Given the description of an element on the screen output the (x, y) to click on. 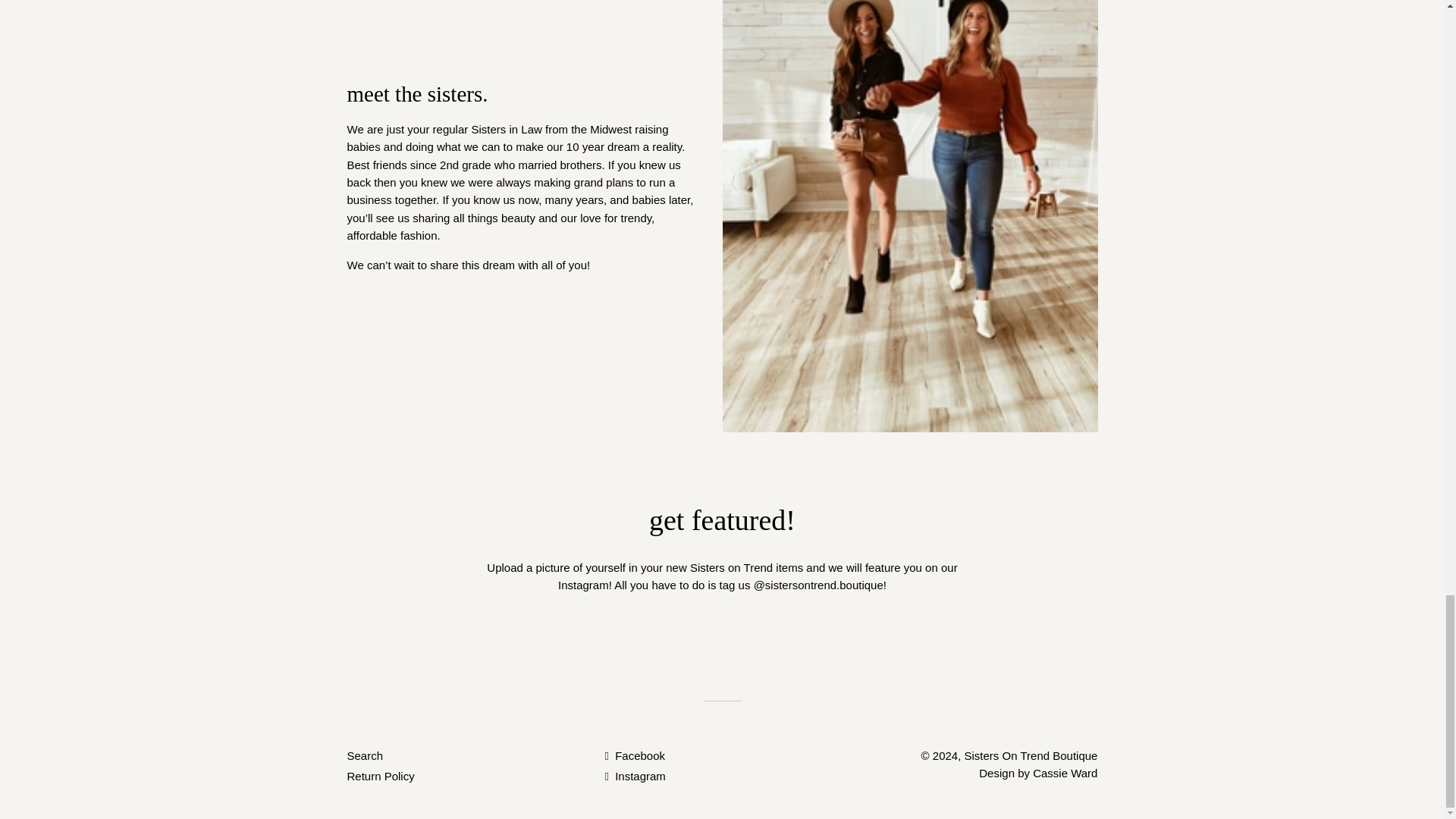
Return Policy (380, 775)
Sisters On Trend Boutique (1030, 755)
Design by Cassie Ward (1037, 772)
Search (365, 755)
Sisters On Trend Boutique on Instagram (634, 775)
Sisters On Trend Boutique on Facebook (634, 755)
Facebook (634, 755)
Instagram (634, 775)
